Given the description of an element on the screen output the (x, y) to click on. 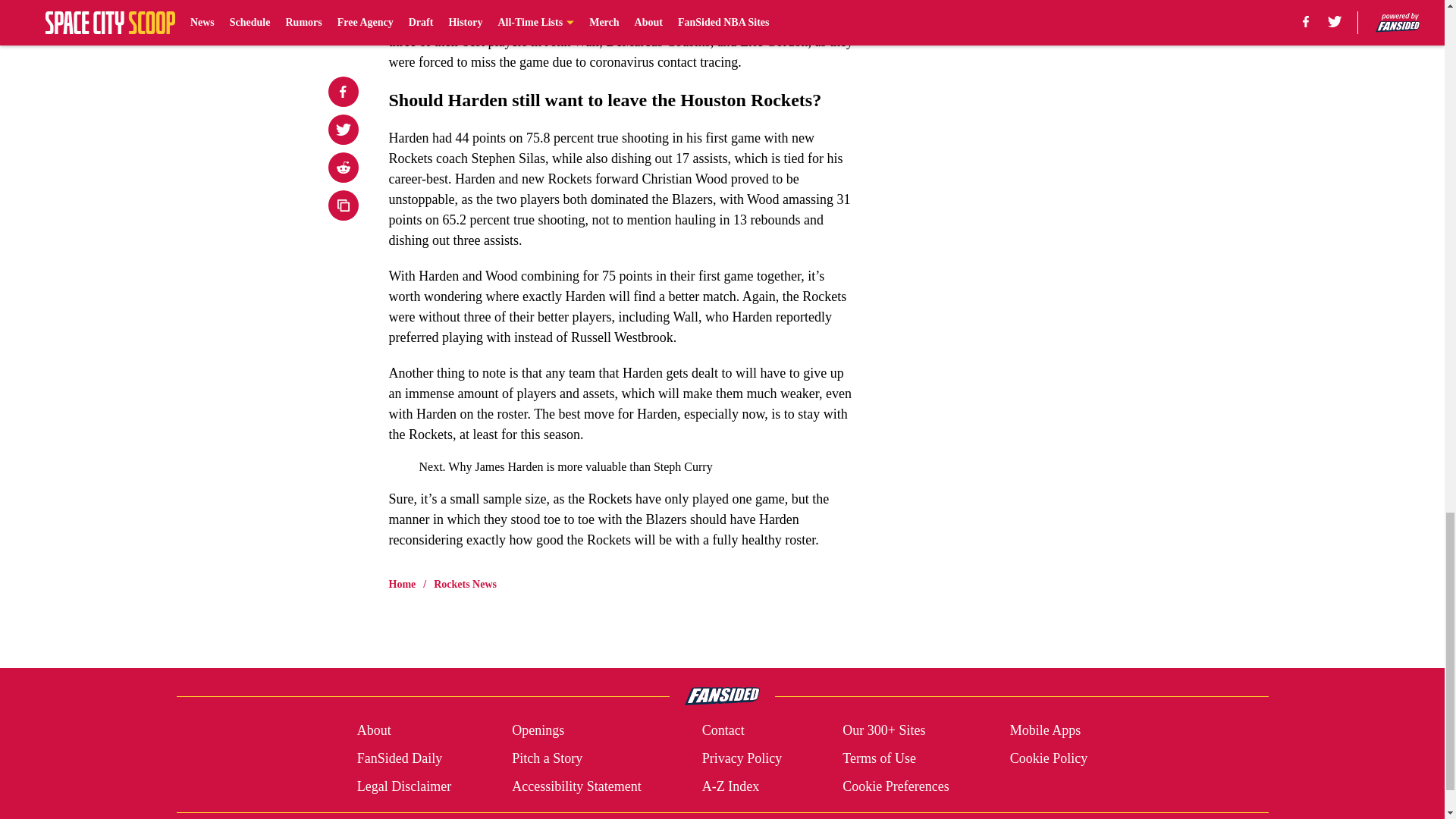
Mobile Apps (1045, 730)
Openings (538, 730)
FanSided Daily (399, 758)
Legal Disclaimer (403, 786)
Privacy Policy (742, 758)
About (373, 730)
Contact (722, 730)
Cookie Policy (1048, 758)
Home (401, 584)
Terms of Use (879, 758)
Pitch a Story (547, 758)
Rockets News (464, 584)
